Given the description of an element on the screen output the (x, y) to click on. 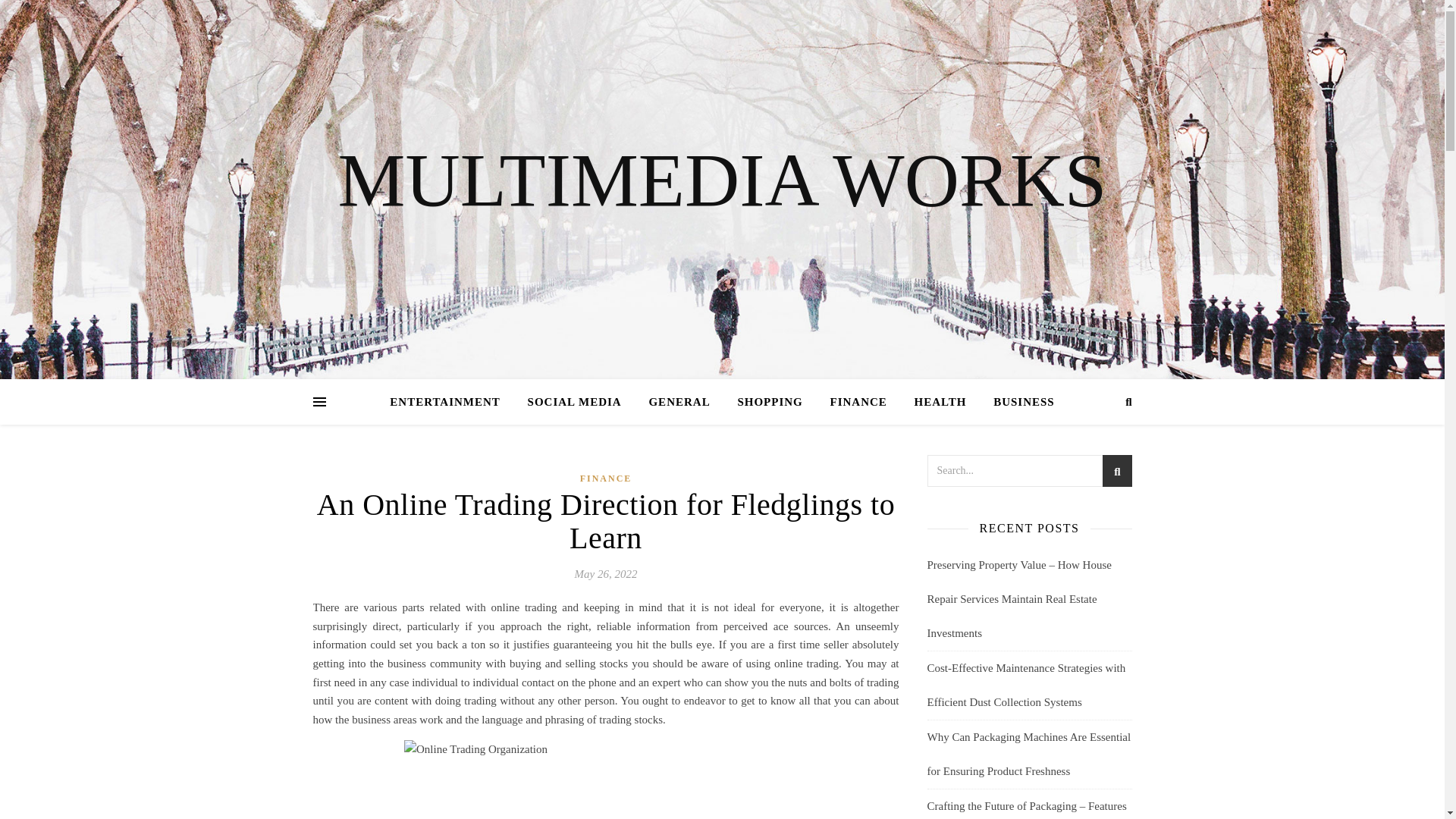
HEALTH (940, 402)
BUSINESS (1017, 402)
SHOPPING (769, 402)
st (1115, 473)
GENERAL (679, 402)
SOCIAL MEDIA (574, 402)
FINANCE (605, 478)
ENTERTAINMENT (451, 402)
FINANCE (857, 402)
